Given the description of an element on the screen output the (x, y) to click on. 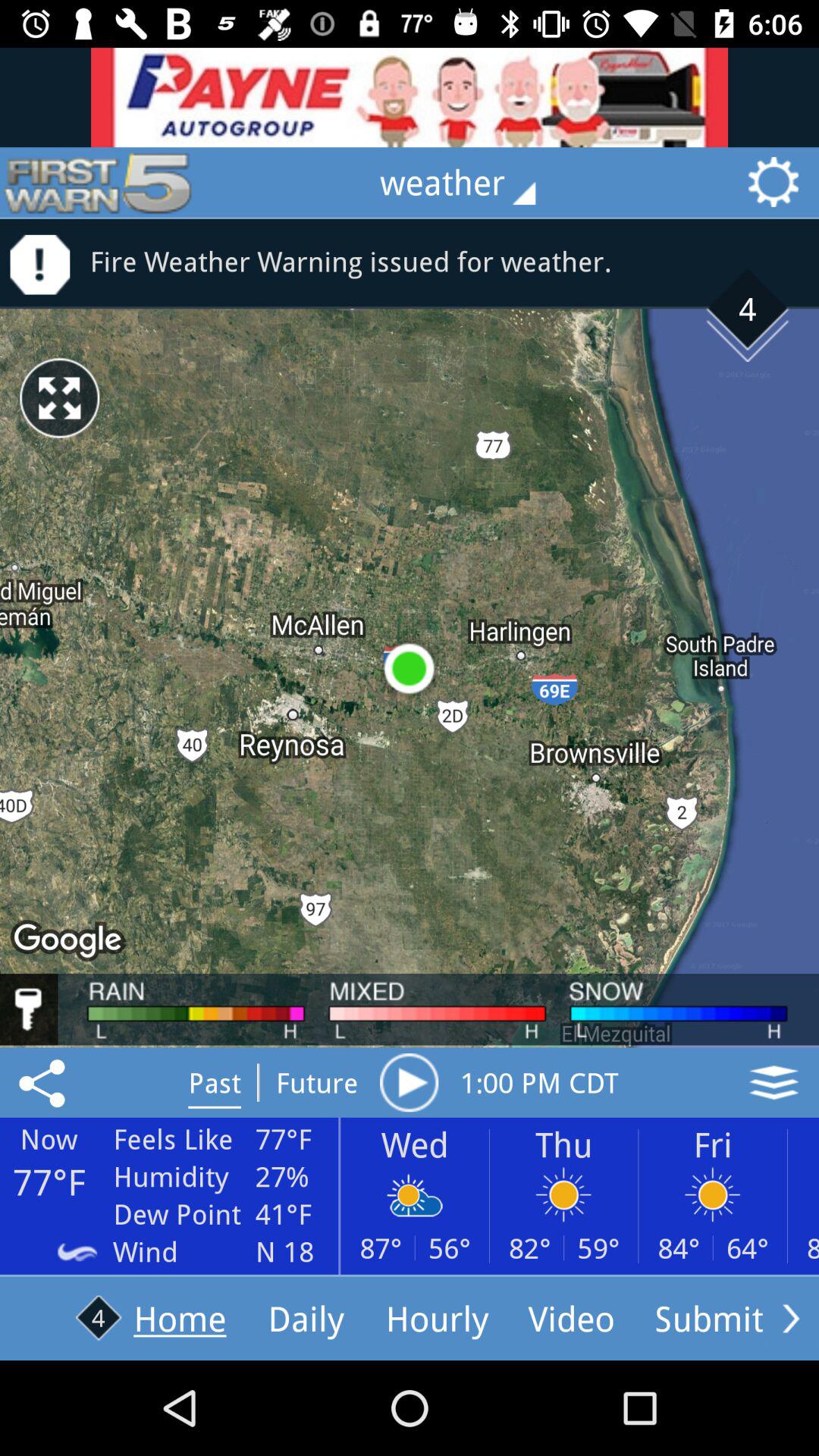
change topography (774, 1082)
